Given the description of an element on the screen output the (x, y) to click on. 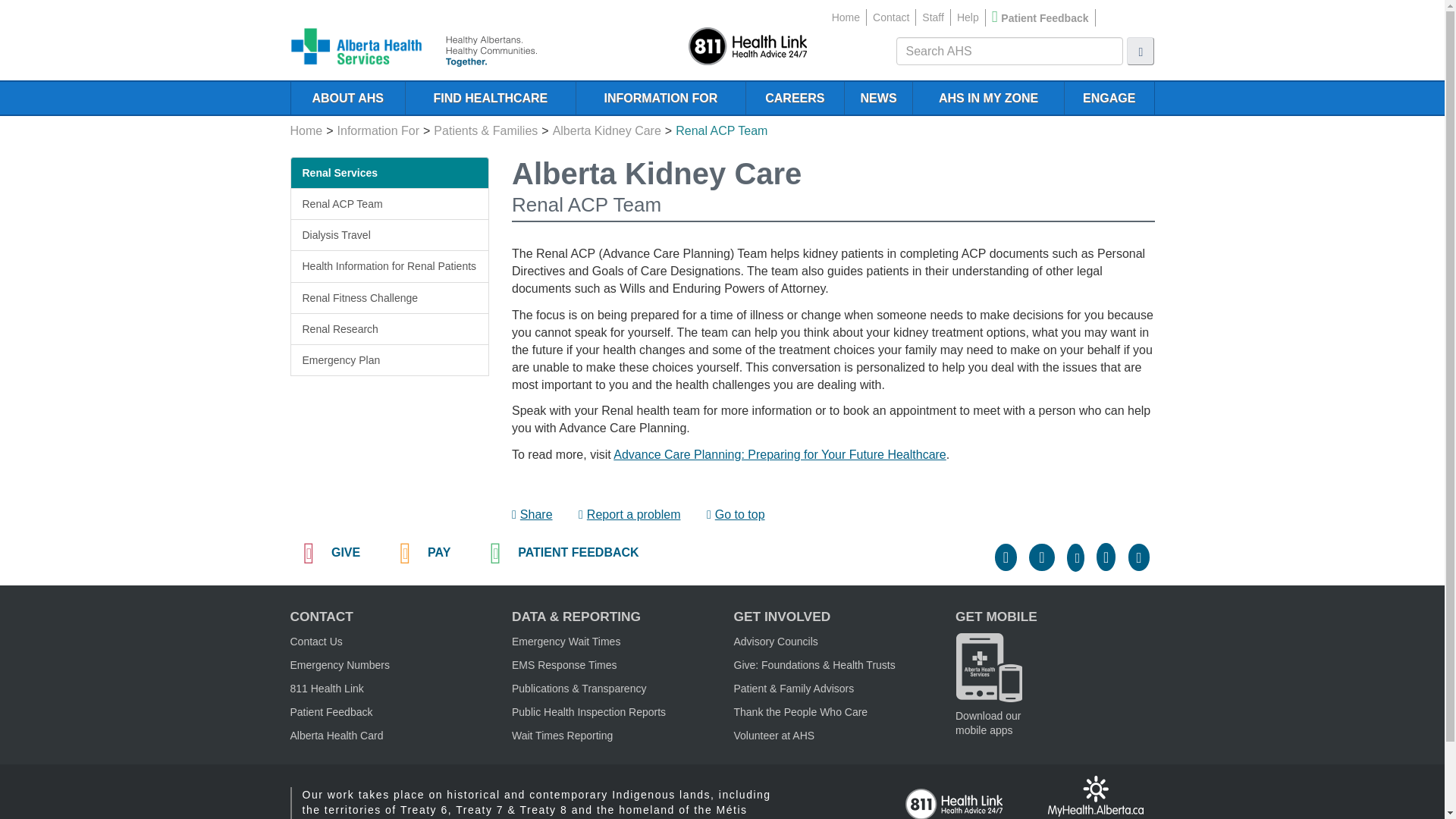
Contact (890, 17)
Patient Feedback (1044, 18)
Home (845, 17)
ABOUT AHS (346, 97)
FIND HEALTHCARE (489, 97)
Help (967, 17)
Staff (932, 17)
INFORMATION FOR (660, 97)
